Given the description of an element on the screen output the (x, y) to click on. 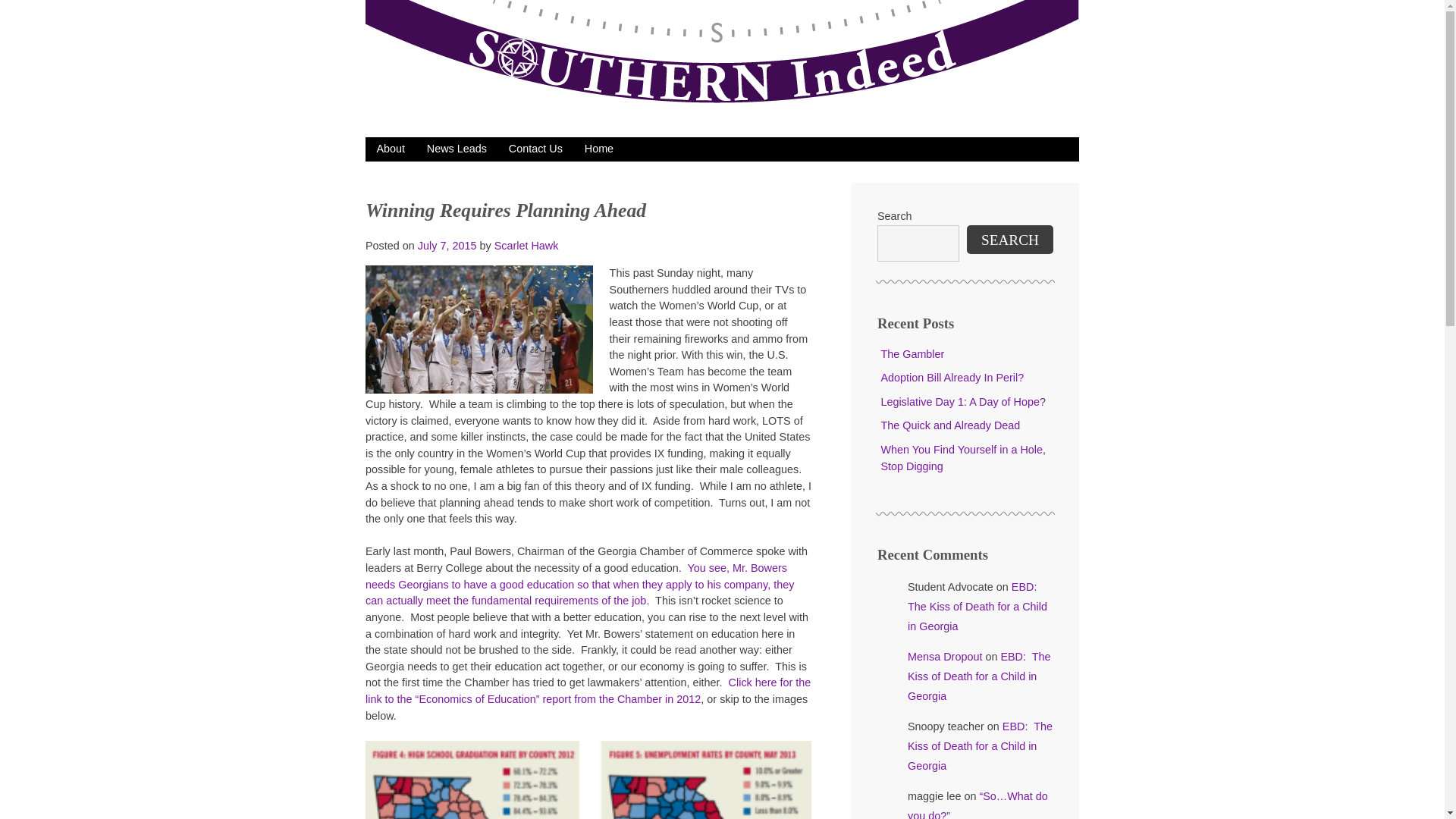
Adoption Bill Already In Peril? (951, 377)
July 7, 2015 (447, 245)
Scarlet Hawk (527, 245)
SEARCH (1009, 239)
News Leads (455, 149)
Contact Us (535, 149)
The Quick and Already Dead (950, 425)
Home (598, 149)
The Gambler (911, 354)
Legislative Day 1: A Day of Hope? (962, 401)
About (389, 149)
